Given the description of an element on the screen output the (x, y) to click on. 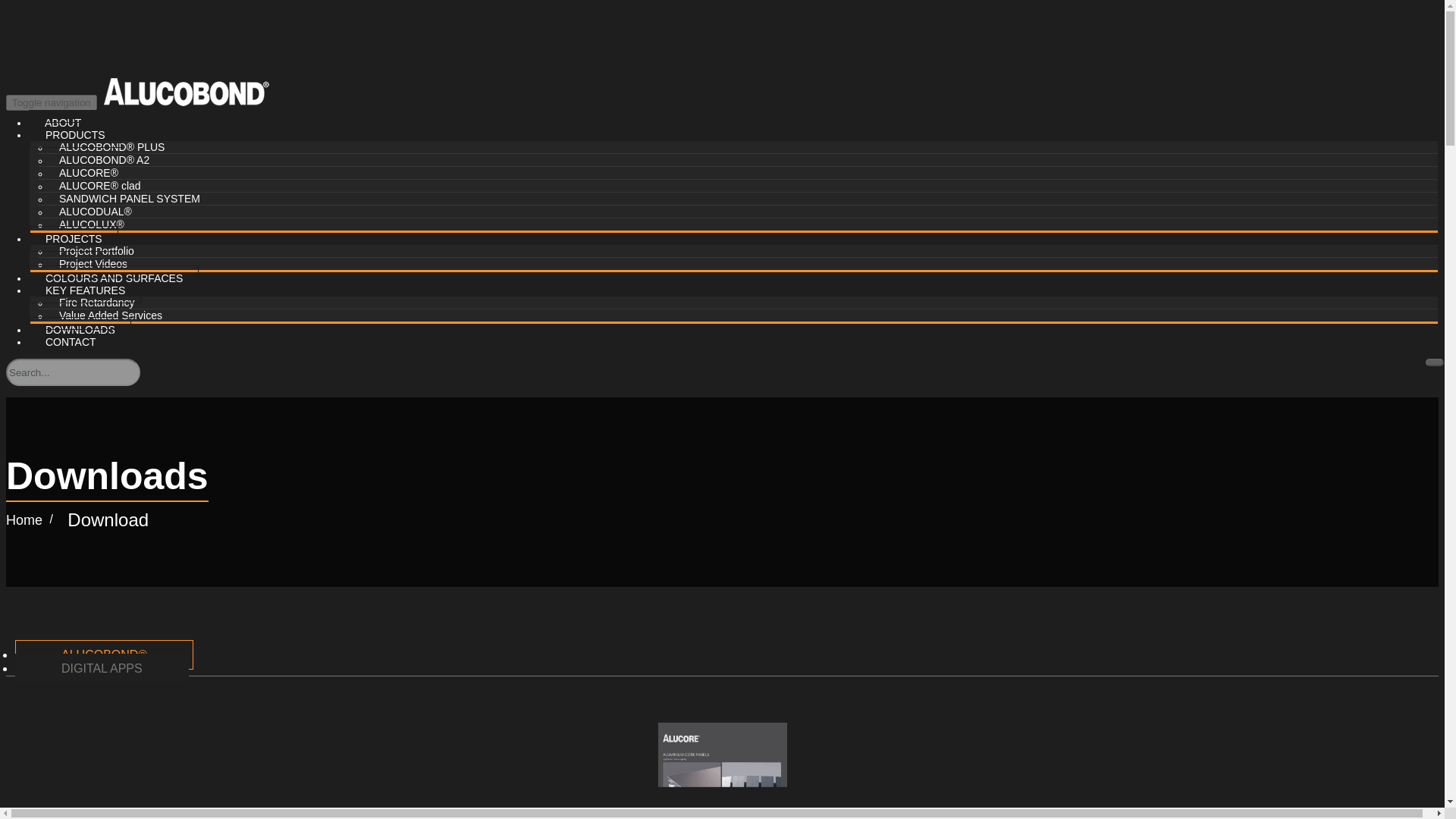
Fire Retardancy (96, 302)
DIGITAL APPS (101, 668)
SANDWICH PANEL SYSTEM (129, 198)
COLOURS AND SURFACES (113, 278)
Home (23, 520)
PRODUCTS (74, 135)
Project Portfolio (95, 250)
KEY FEATURES (85, 290)
ABOUT (63, 122)
Toggle navigation (51, 102)
